Given the description of an element on the screen output the (x, y) to click on. 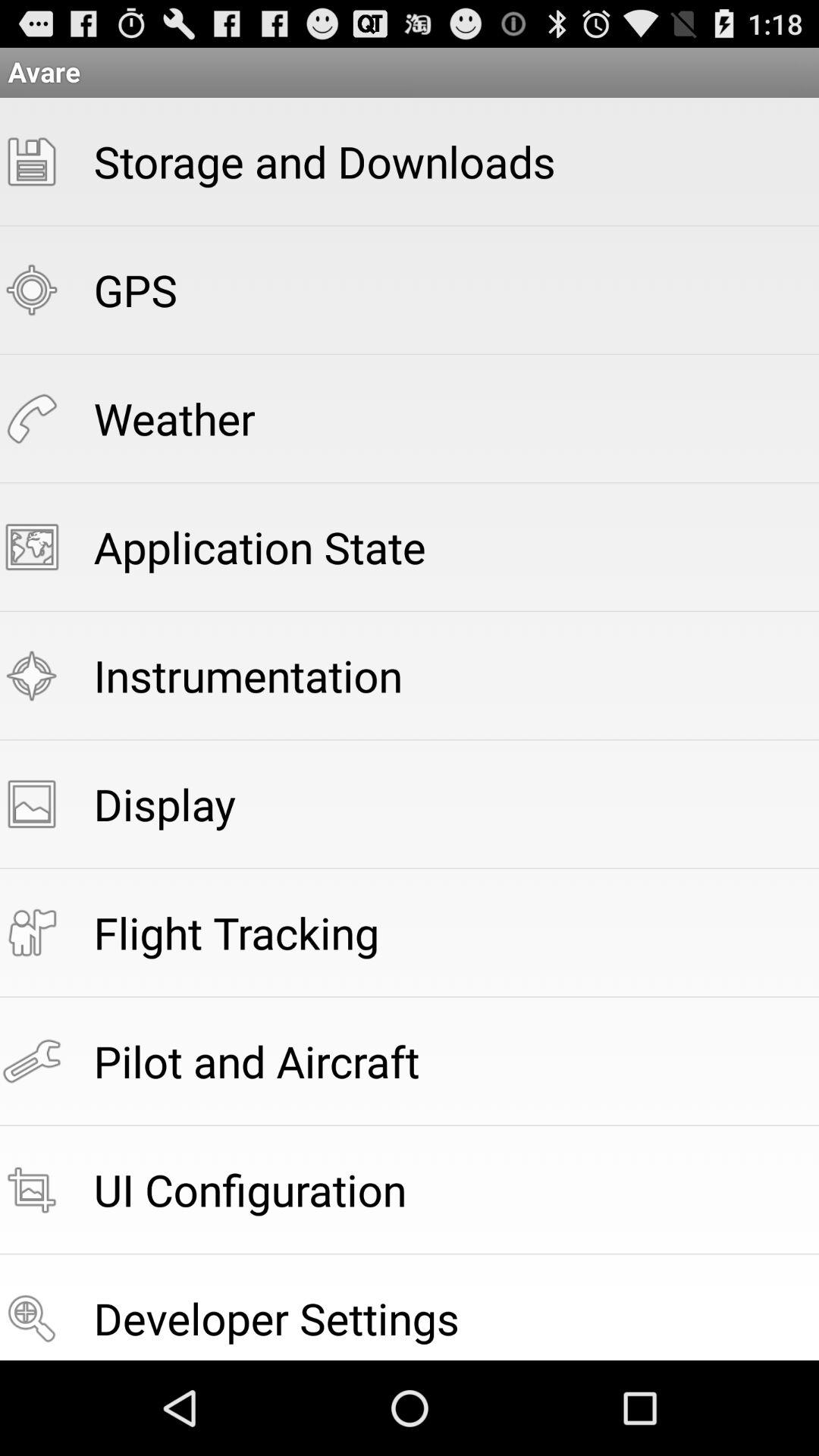
swipe until developer settings (276, 1317)
